Given the description of an element on the screen output the (x, y) to click on. 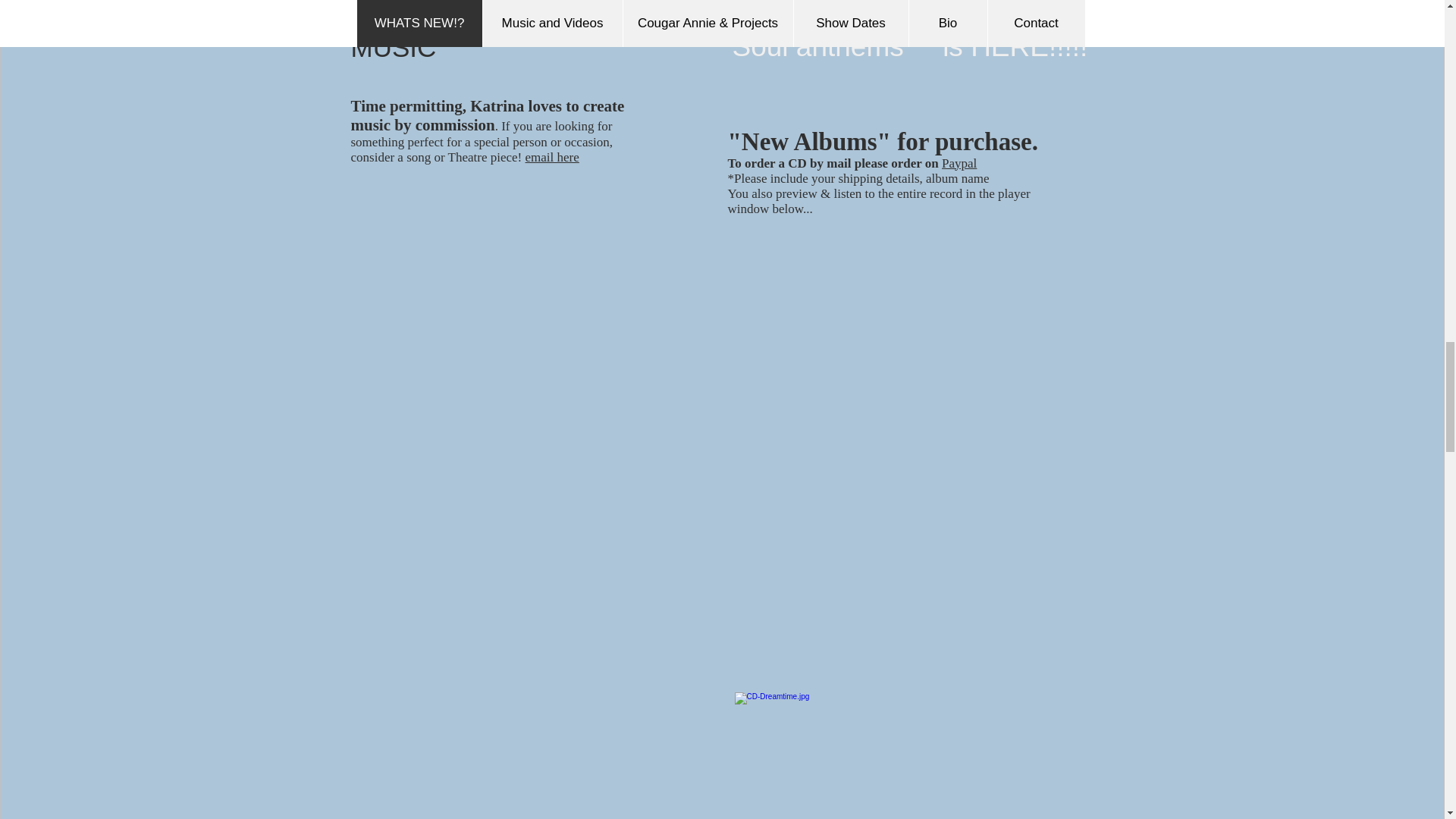
email here (552, 156)
Paypal (959, 163)
